Given the description of an element on the screen output the (x, y) to click on. 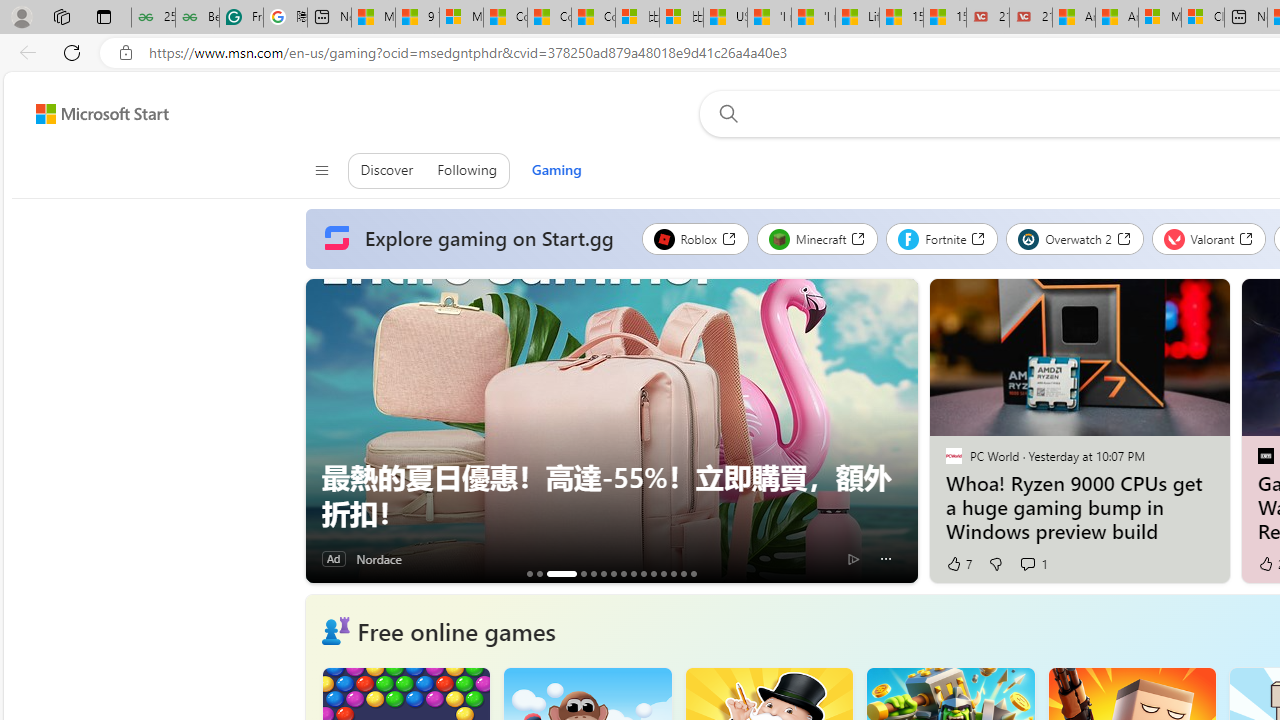
To get missing image descriptions, open the context menu. (335, 631)
AutomationID: nativead-infopane-3-ad-choice (853, 558)
Lifestyle - MSN (857, 17)
Skip to footer (90, 113)
To get missing image descriptions, open the context menu. (335, 631)
Gaming (555, 170)
Free AI Writing Assistance for Students | Grammarly (241, 17)
View comments 1 Comment (1026, 563)
Starfield: How To Use Your Spaceship (613, 573)
Next slide (902, 431)
Previous slide (319, 431)
